Given the description of an element on the screen output the (x, y) to click on. 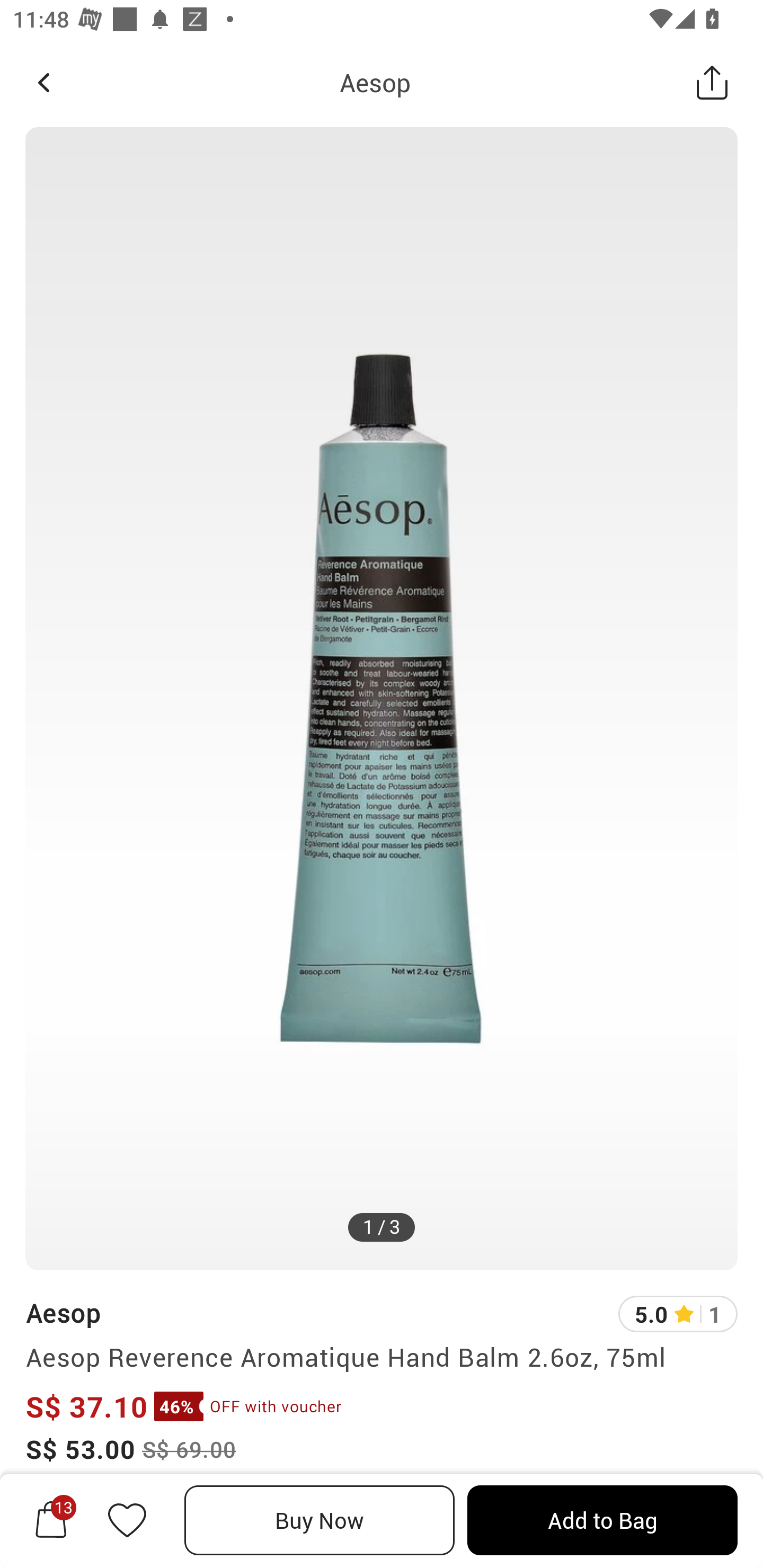
Aesop (375, 82)
Share this Product (711, 82)
Aesop (62, 1312)
5.0 1 (677, 1313)
Buy Now (319, 1519)
Add to Bag (601, 1519)
13 (50, 1520)
